Given the description of an element on the screen output the (x, y) to click on. 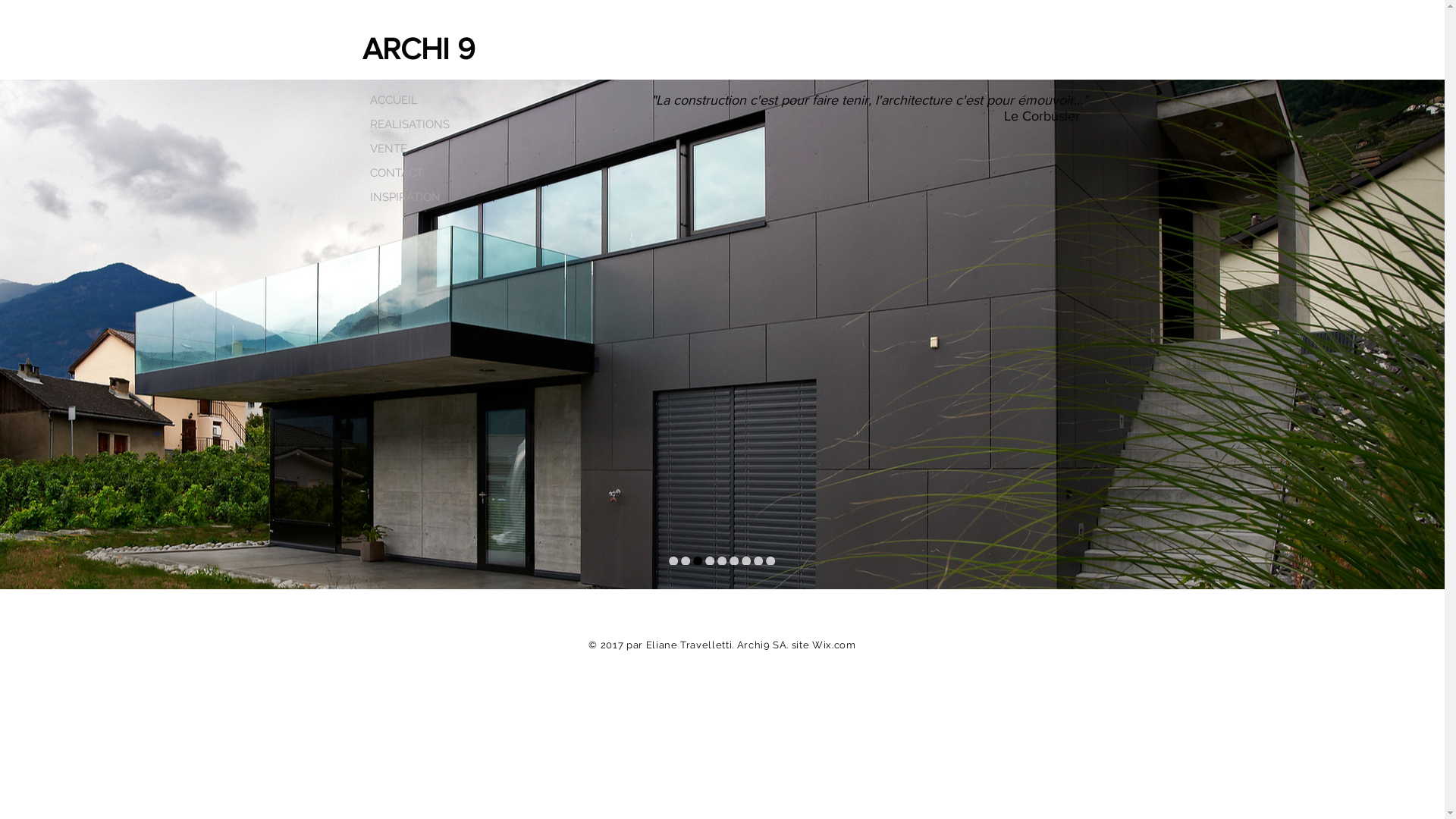
INSPIRATION Element type: text (409, 197)
Wix.com Element type: text (834, 644)
VENTE Element type: text (409, 148)
REALISATIONS Element type: text (409, 124)
ARCHI 9 Element type: text (418, 48)
ACCUEIL Element type: text (409, 99)
CONTACT Element type: text (409, 172)
